Given the description of an element on the screen output the (x, y) to click on. 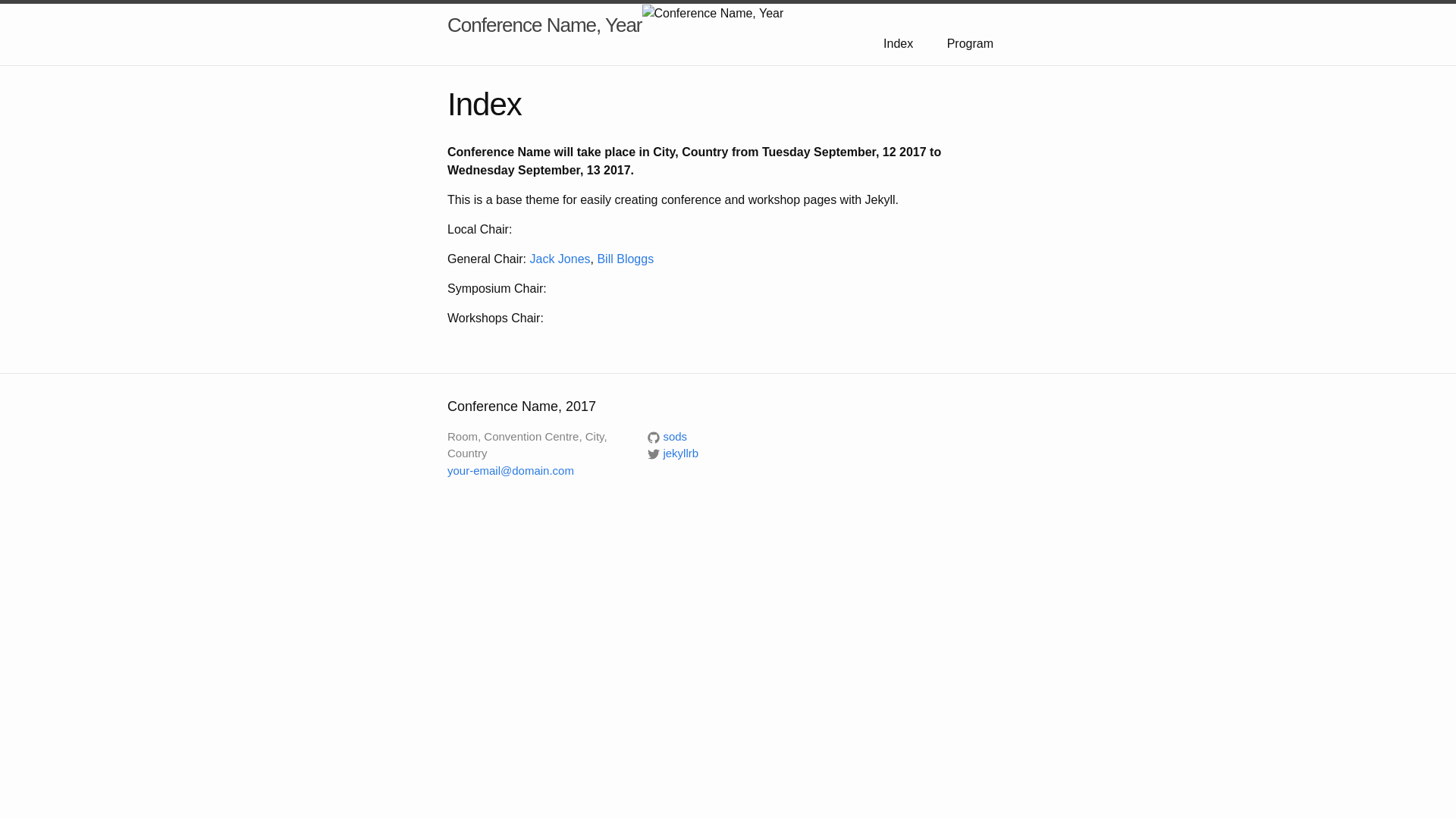
Jack Jones Element type: text (559, 258)
jekyllrb Element type: text (672, 452)
Bill Bloggs Element type: text (624, 258)
Conference Name, Year Element type: text (544, 24)
Program Element type: text (970, 43)
Index Element type: text (898, 43)
sods Element type: text (667, 435)
your-email@domain.com Element type: text (510, 470)
